Given the description of an element on the screen output the (x, y) to click on. 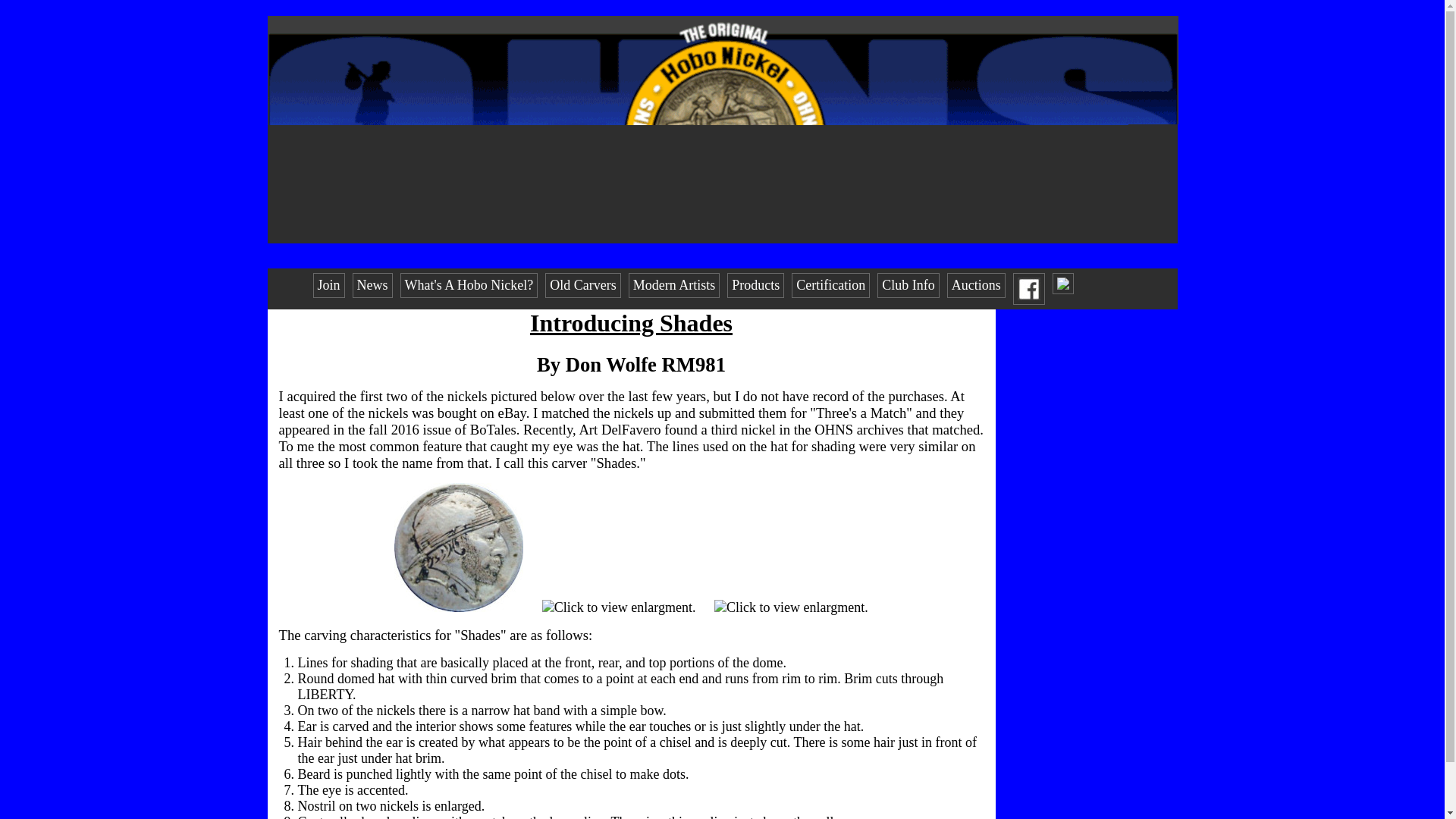
What's A Hobo Nickel? (469, 285)
Modern Artists (674, 285)
Join (328, 285)
Products (755, 285)
Old Carvers (582, 285)
News (372, 285)
Auctions (976, 285)
Club Info (908, 285)
Certification (830, 285)
